Given the description of an element on the screen output the (x, y) to click on. 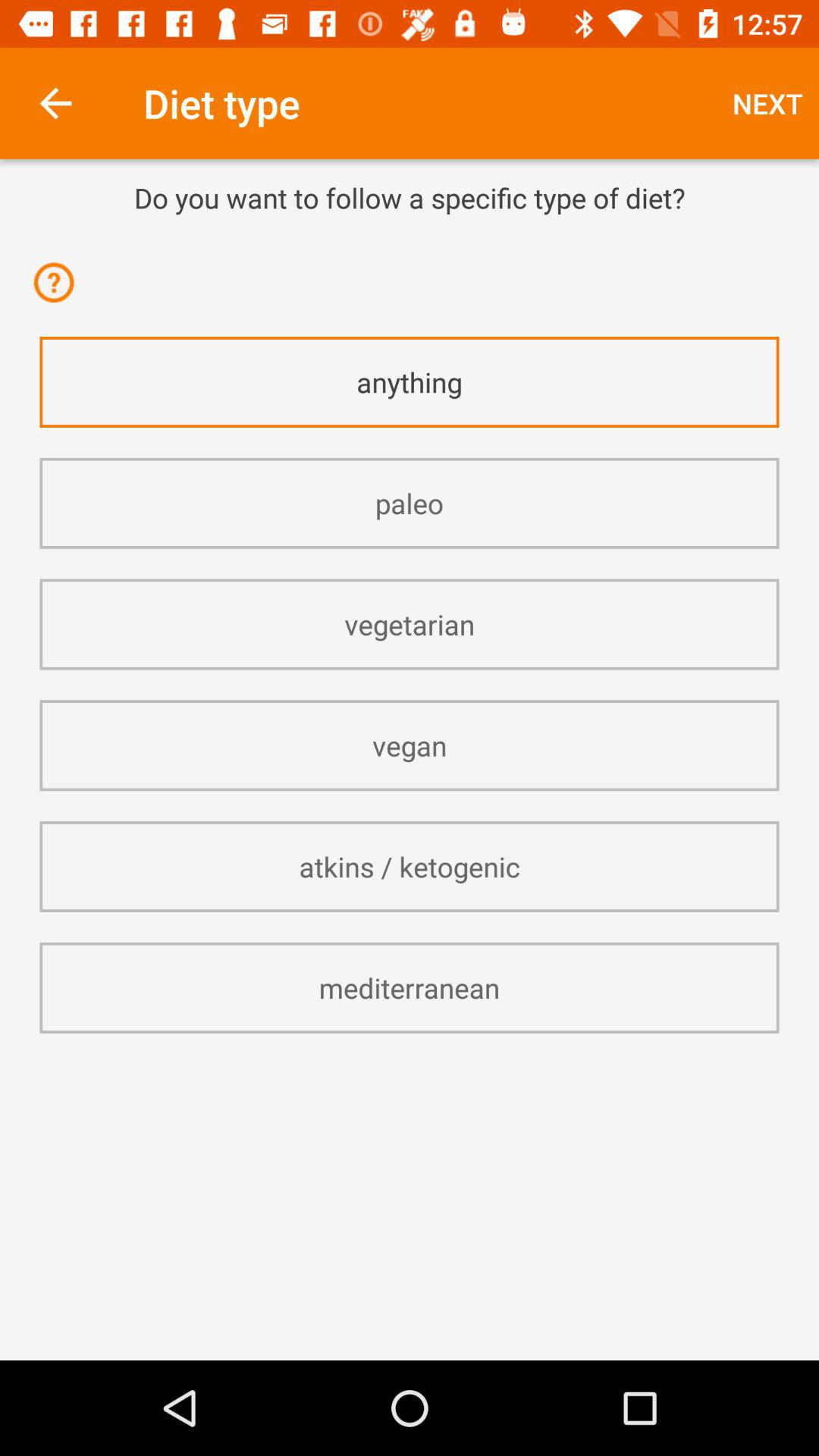
select item next to diet type icon (767, 103)
